Given the description of an element on the screen output the (x, y) to click on. 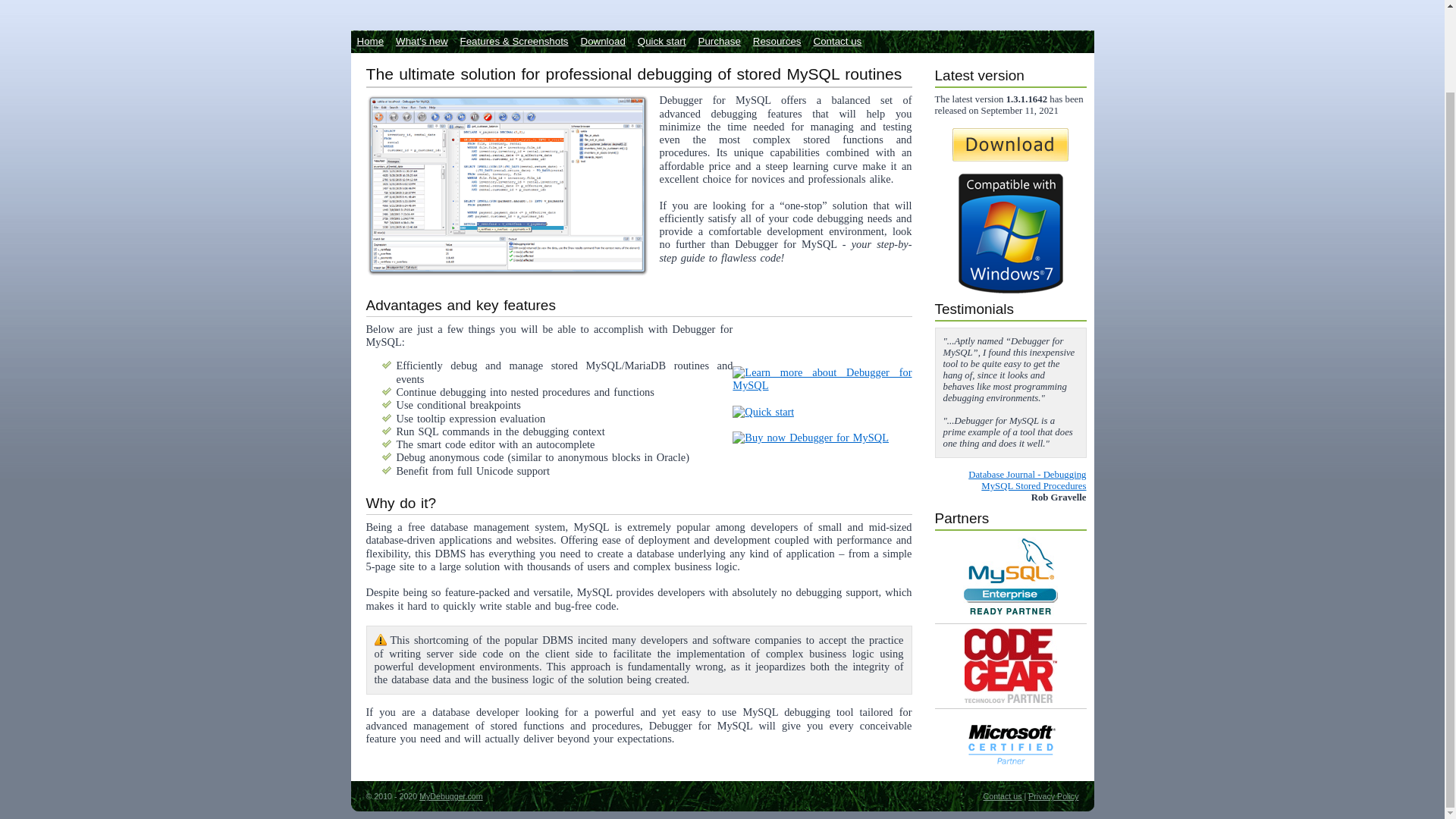
Home (370, 41)
Resources (777, 41)
Quick start (662, 41)
Contact us (1003, 795)
Purchase (719, 41)
What's new (421, 41)
Privacy Policy (1052, 795)
Contact us (837, 41)
Database Journal - Debugging MySQL Stored Procedures (1027, 480)
MyDebugger.com (451, 795)
